Given the description of an element on the screen output the (x, y) to click on. 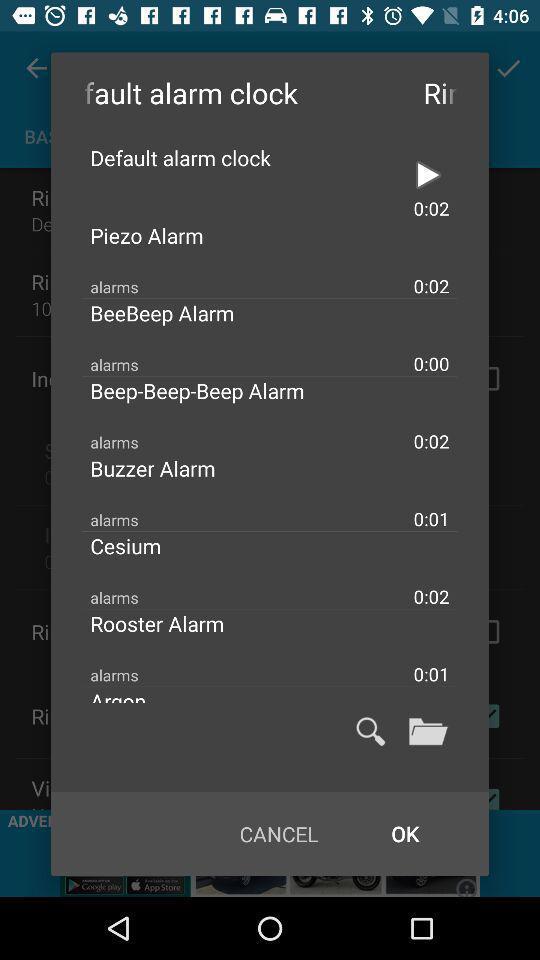
switch play option (428, 175)
